Given the description of an element on the screen output the (x, y) to click on. 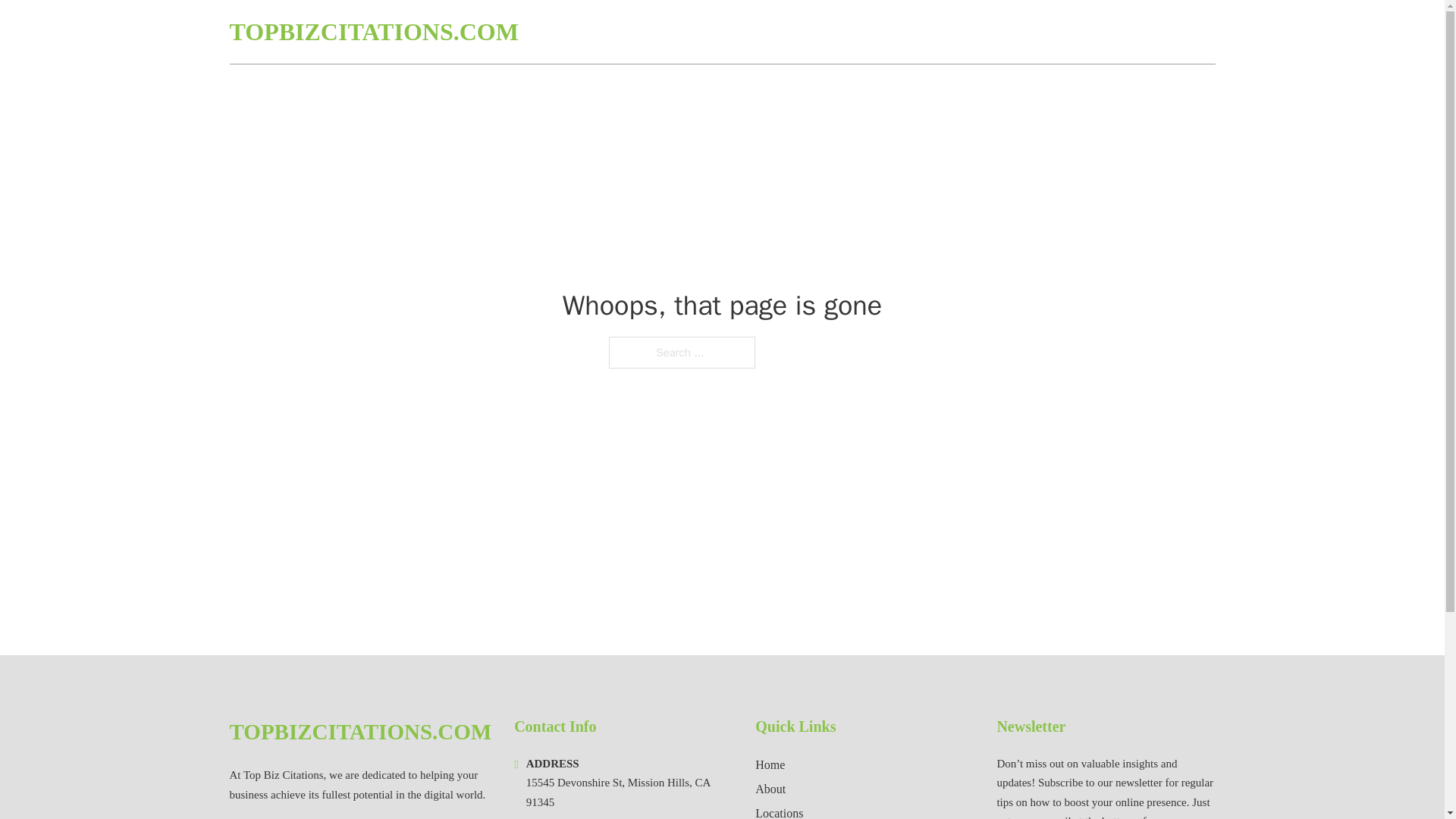
About (770, 788)
LOCATIONS (1105, 31)
Home (769, 764)
Locations (779, 811)
TOPBIZCITATIONS.COM (360, 732)
HOME (1032, 31)
TOPBIZCITATIONS.COM (373, 31)
